Given the description of an element on the screen output the (x, y) to click on. 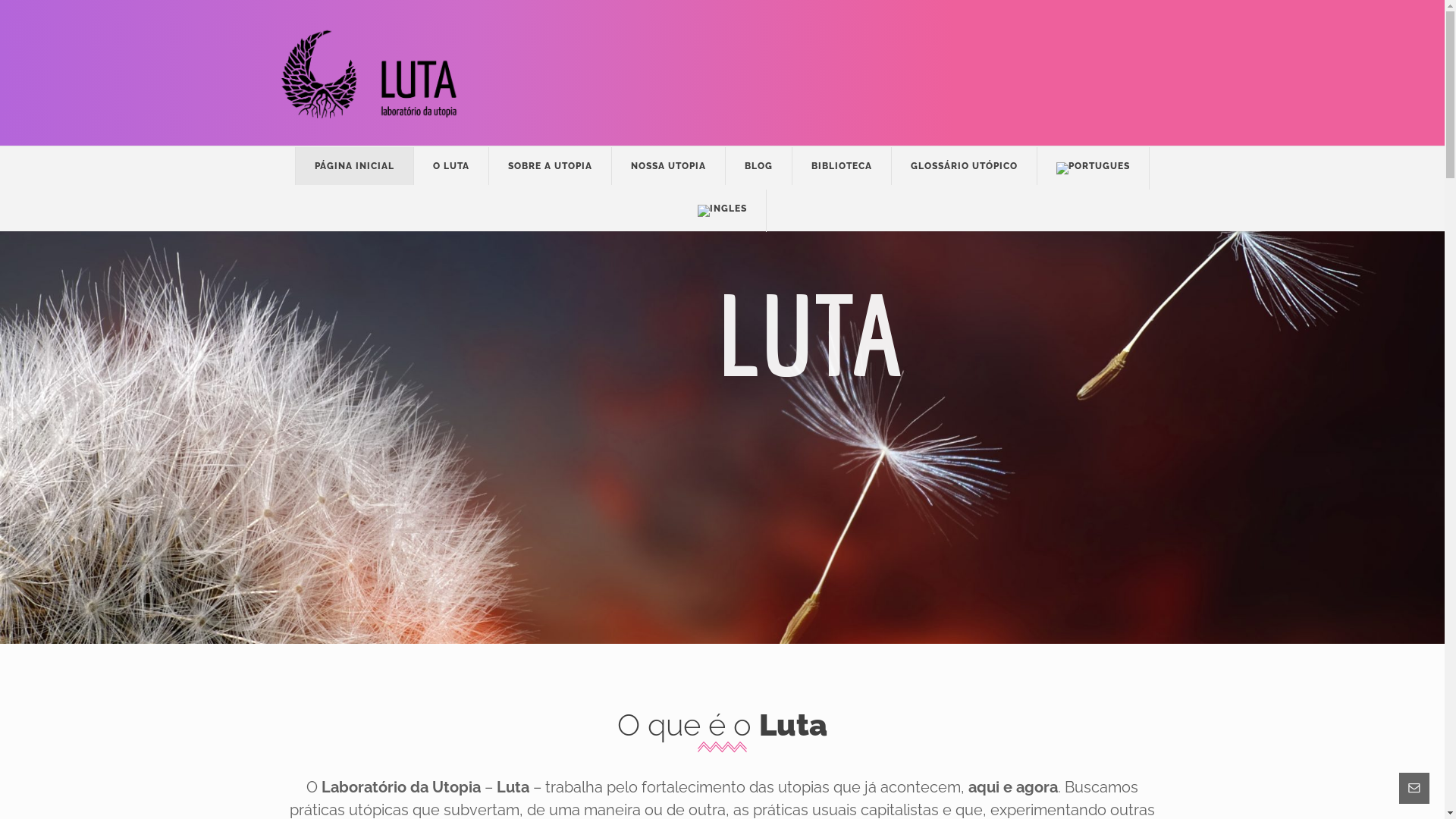
QUEM SOMOS Element type: text (771, 515)
SOBRE A UTOPIA Element type: text (550, 166)
BLOG Element type: text (758, 166)
O LUTA Element type: text (451, 166)
BIBLIOTECA Element type: text (841, 166)
NOSSA UTOPIA Element type: text (668, 166)
